Given the description of an element on the screen output the (x, y) to click on. 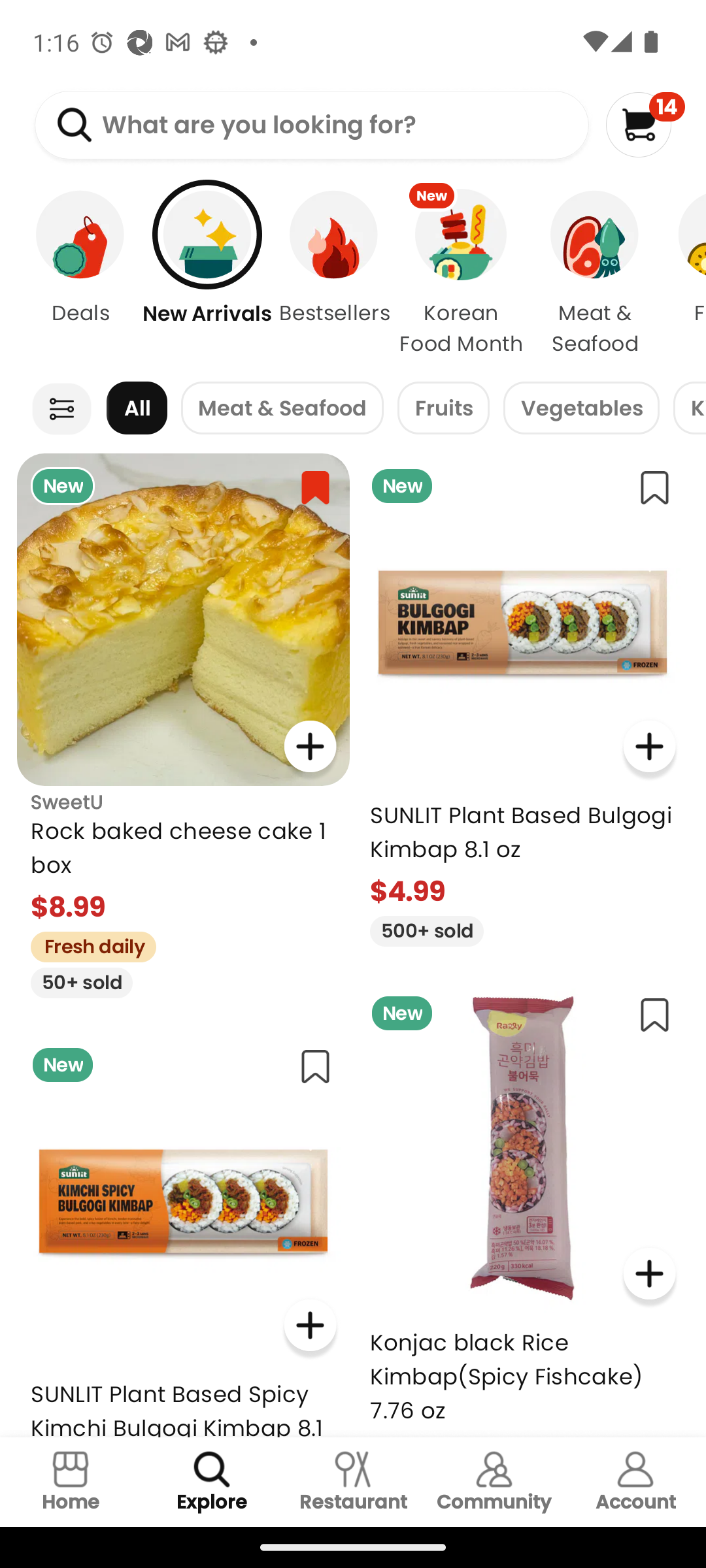
What are you looking for? (311, 124)
14 (644, 124)
Deals (70, 274)
New Arrivals (206, 274)
Bestsellers (333, 274)
New Korean Food Month (460, 274)
Meat & Seafood (595, 274)
All (136, 407)
Meat & Seafood (282, 407)
Fruits (443, 407)
Vegetables (581, 407)
Fresh daily (86, 944)
Home (70, 1482)
Explore (211, 1482)
Restaurant (352, 1482)
Community (493, 1482)
Account (635, 1482)
